Given the description of an element on the screen output the (x, y) to click on. 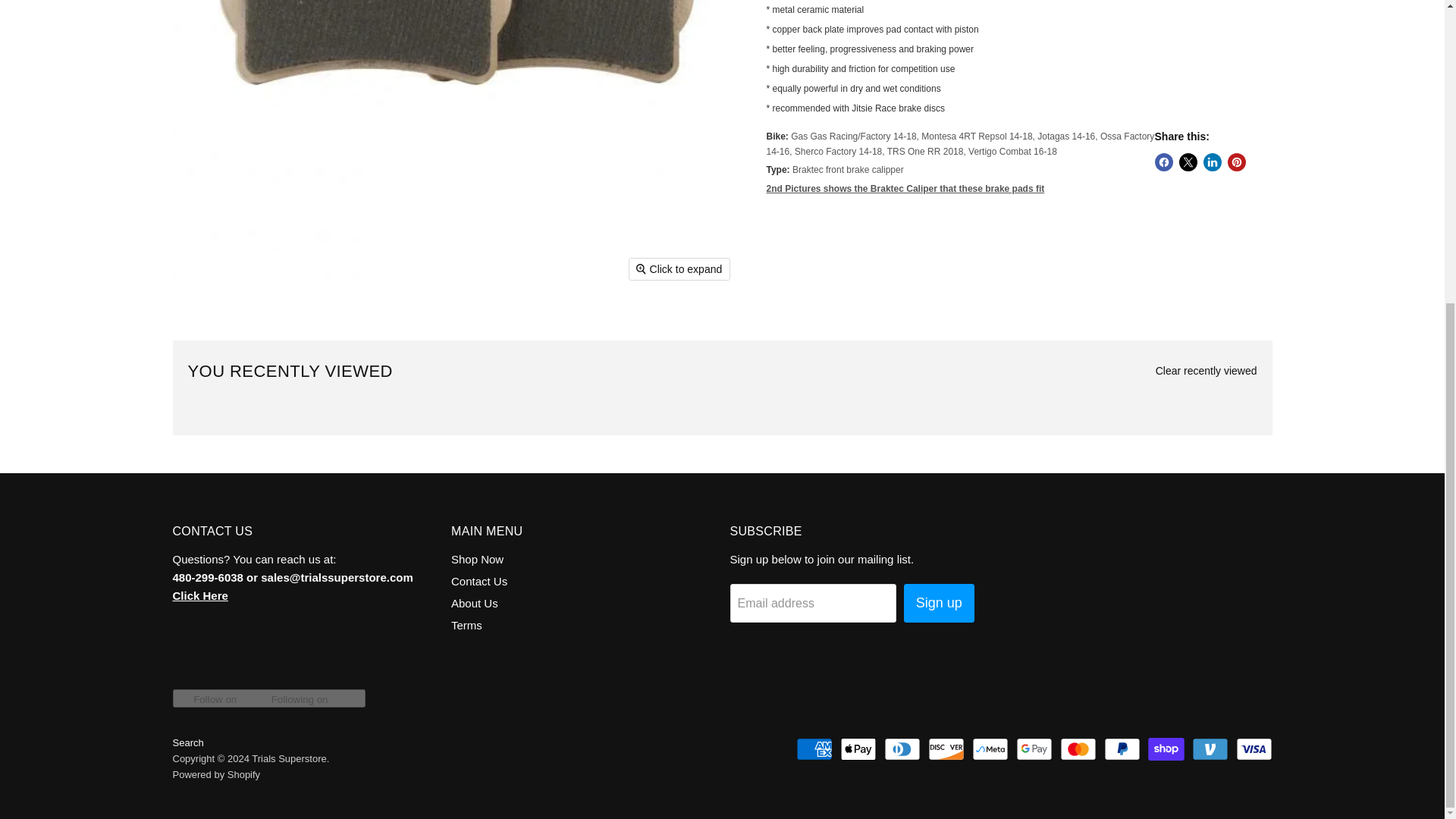
American Express (814, 748)
Contact (200, 594)
Diners Club (901, 748)
Discover (945, 748)
Meta Pay (990, 748)
Apple Pay (858, 748)
Google Pay (1034, 748)
Mastercard (1077, 748)
